Given the description of an element on the screen output the (x, y) to click on. 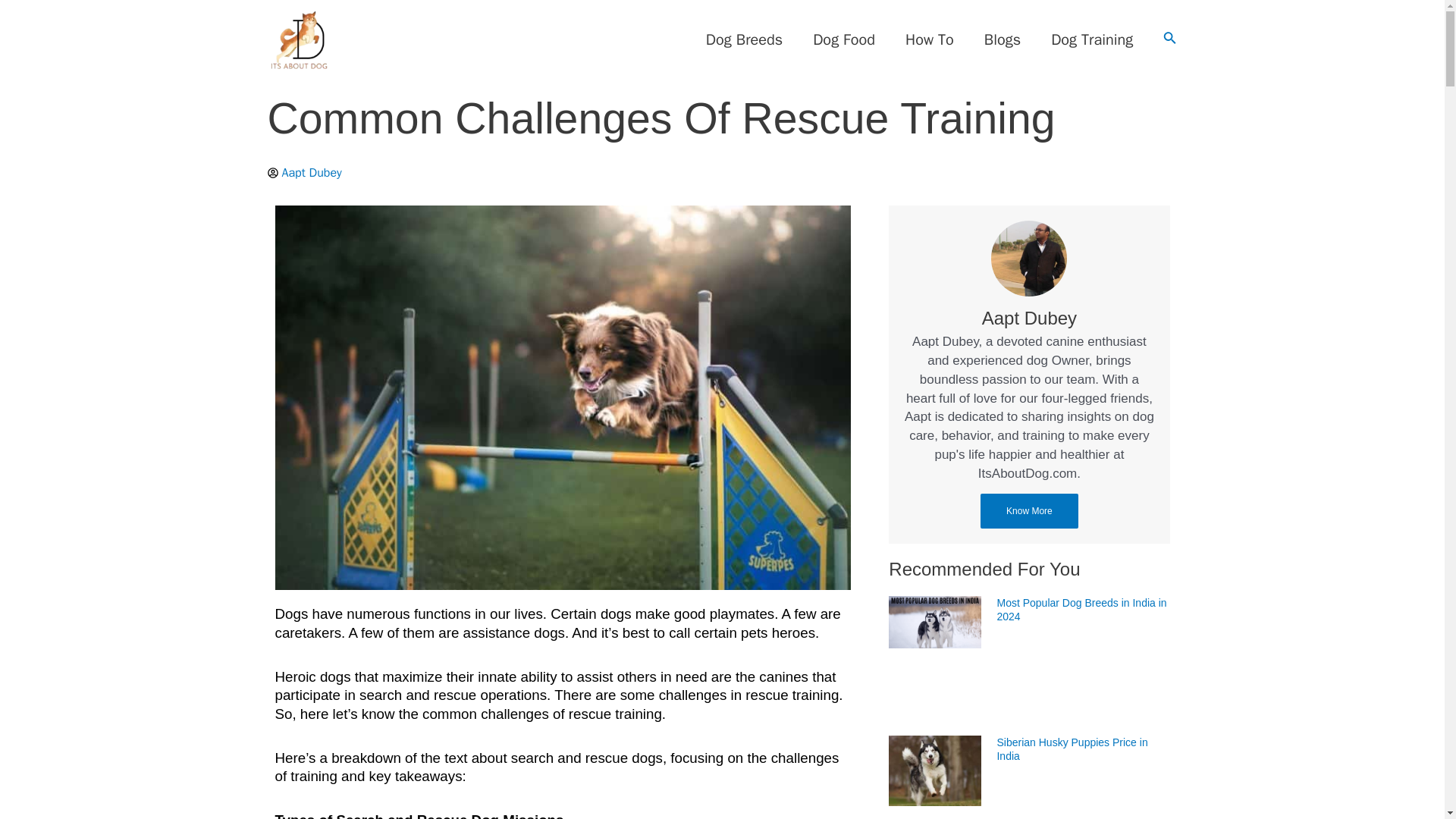
Aapt Dubey (303, 172)
How To (929, 39)
Aapt Dubey (1029, 318)
Dog Food (843, 39)
Siberian Husky Puppies Price in India (1071, 749)
Know More (1028, 510)
Dog Breeds (743, 39)
Blogs (1002, 39)
Most Popular Dog Breeds in India in 2024 (1080, 609)
Dog Training (1091, 39)
